Given the description of an element on the screen output the (x, y) to click on. 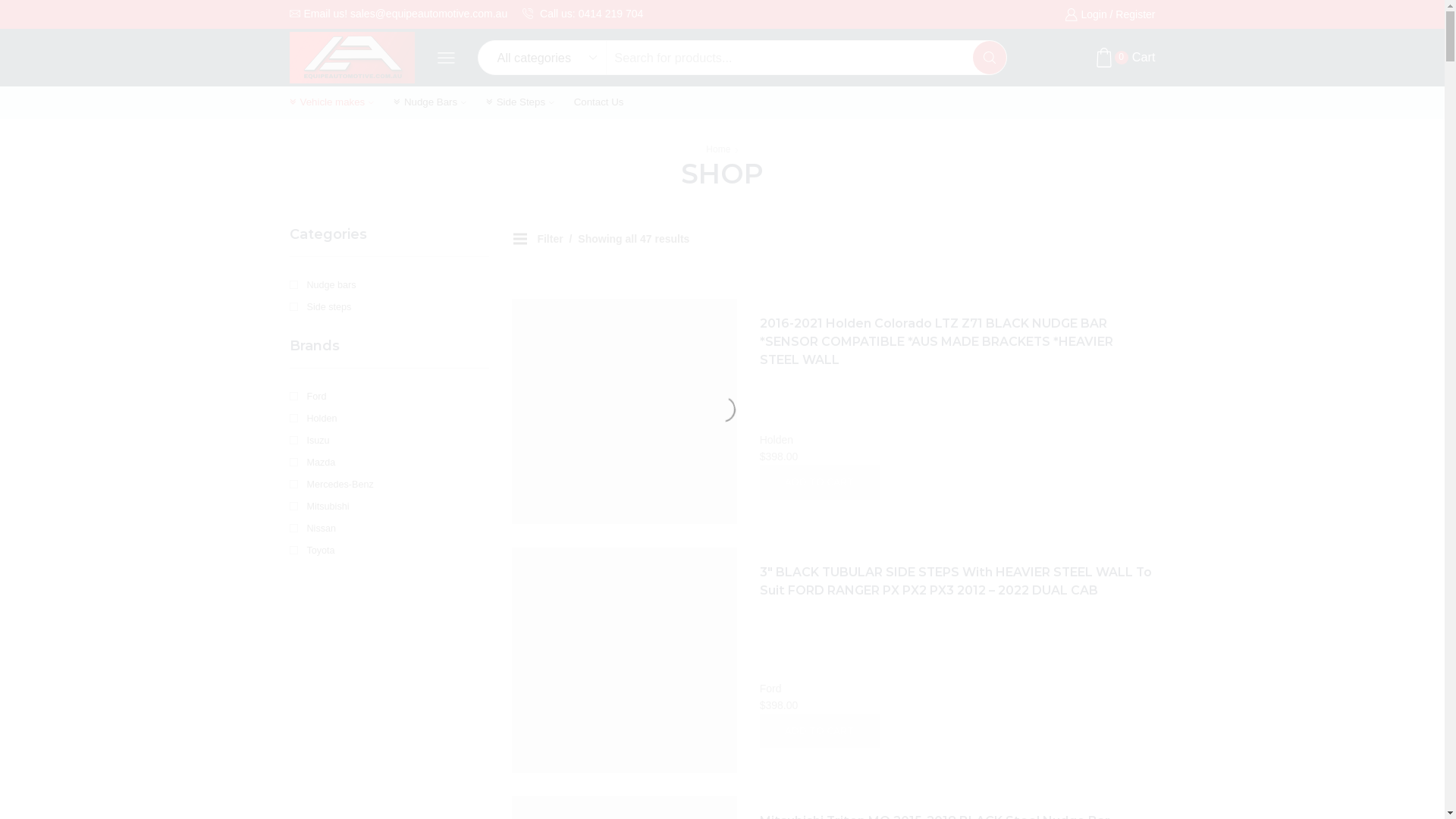
Log in Element type: text (1070, 307)
Nudge Bars Element type: text (429, 102)
Contact Us Element type: text (599, 102)
Login / Register Element type: text (1109, 14)
Vehicle makes Element type: text (331, 102)
Ford Element type: text (770, 688)
Home Element type: text (718, 149)
ADD TO CART Element type: text (819, 481)
Side Steps Element type: text (520, 102)
Holden Element type: text (776, 439)
 Call us: 0414 219 704 Element type: text (582, 13)
0
Cart Element type: text (1124, 57)
ADD TO CART Element type: text (819, 730)
